Given the description of an element on the screen output the (x, y) to click on. 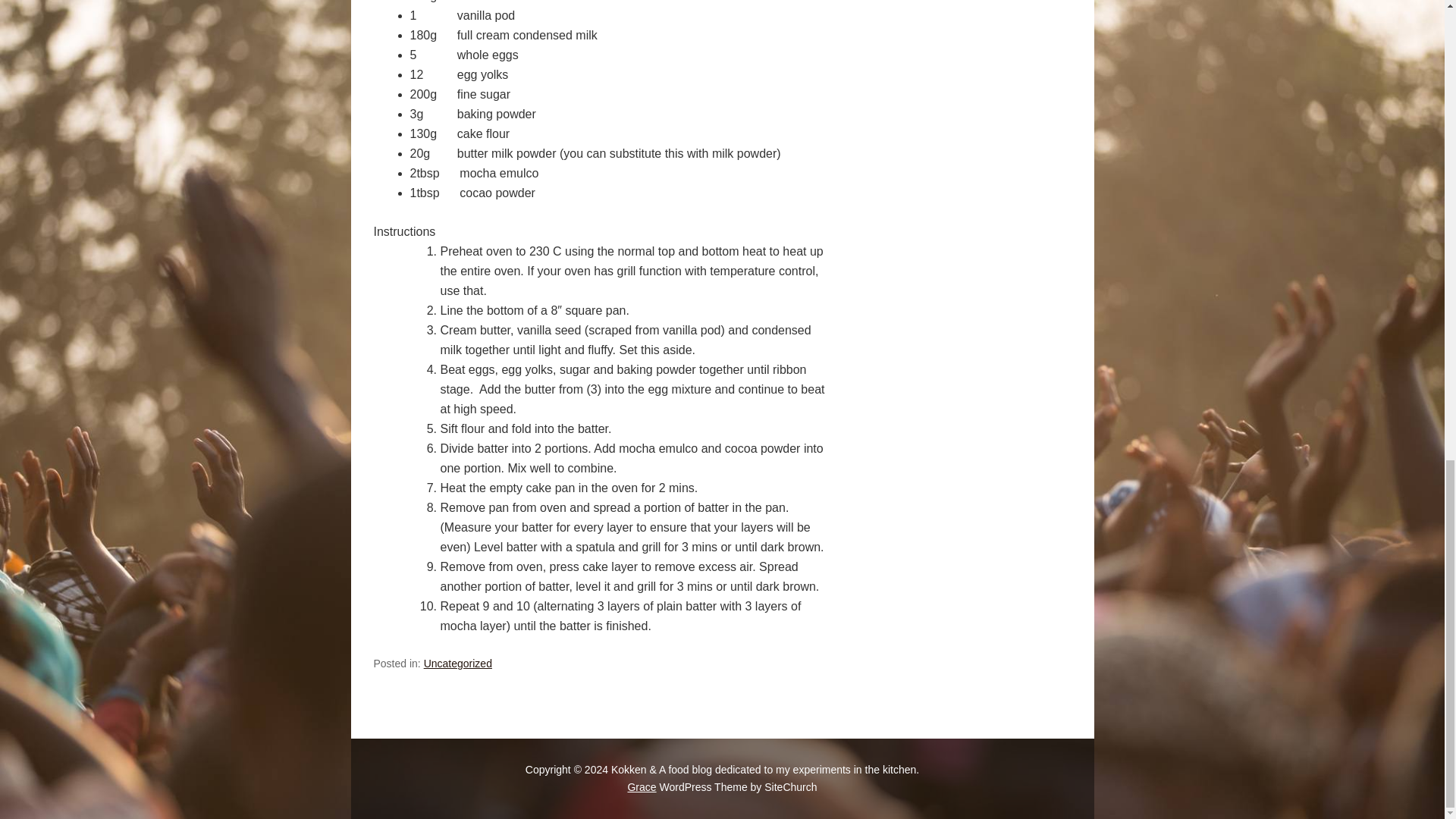
Grace (641, 787)
Uncategorized (457, 663)
Grace WordPress Theme (641, 787)
